Given the description of an element on the screen output the (x, y) to click on. 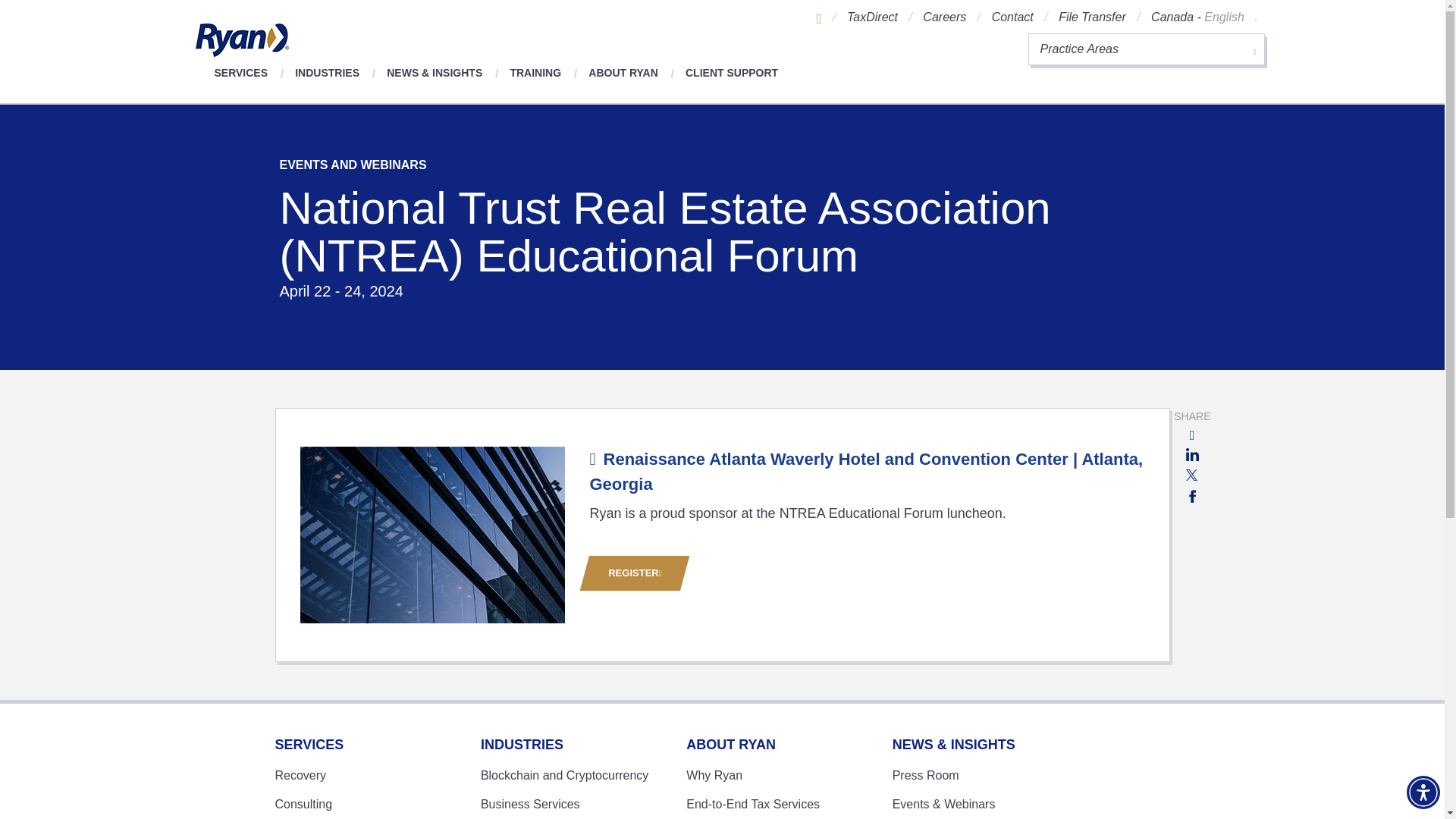
Contact (1012, 16)
Careers (944, 16)
TaxDirect (872, 16)
File Transfer (1091, 16)
File Transfer (1091, 16)
TaxDirect (872, 16)
Canada - English (1203, 16)
Contact (1012, 16)
Careers (944, 16)
Accessibility Menu (1422, 792)
